Given the description of an element on the screen output the (x, y) to click on. 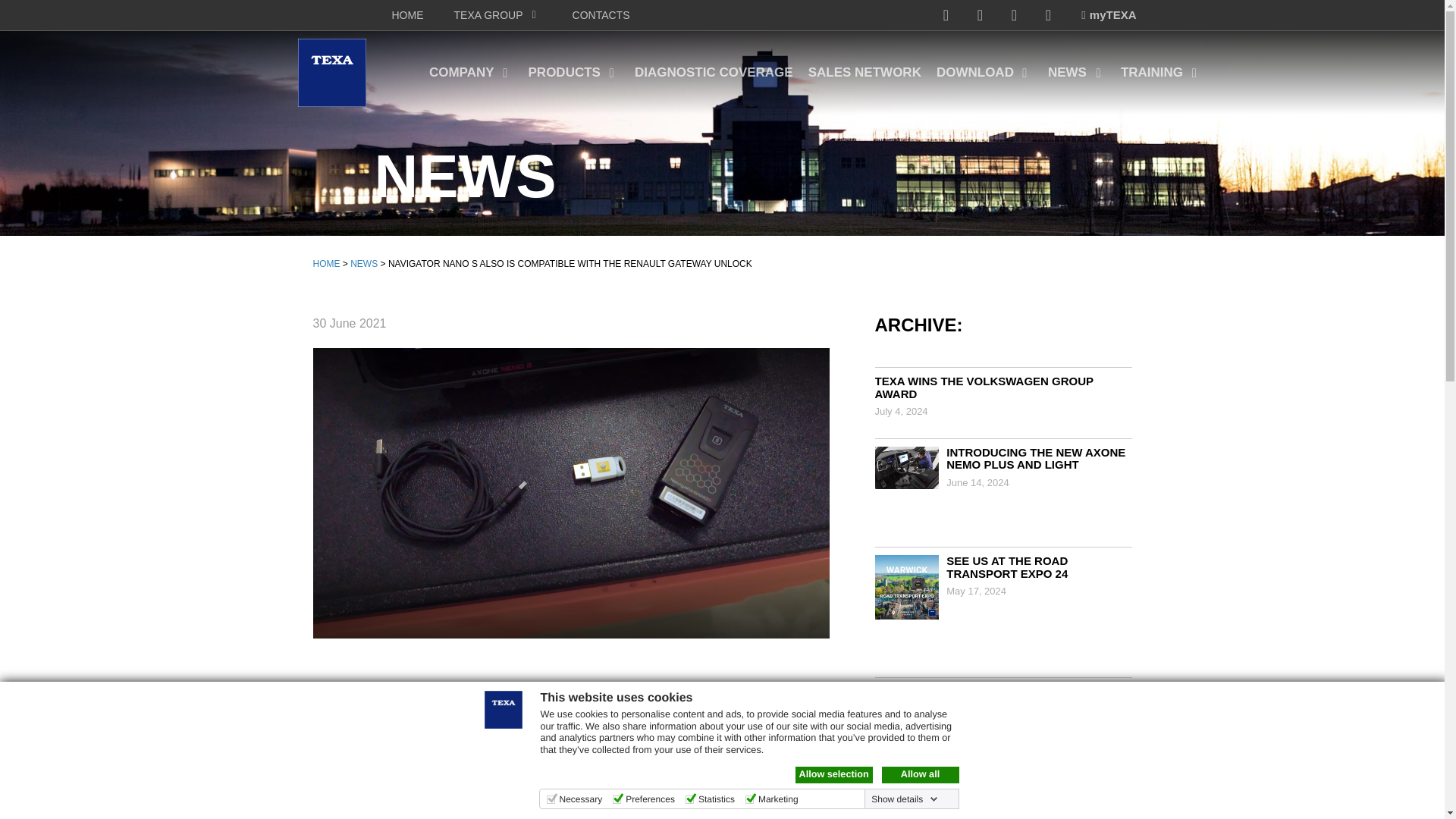
Allow all (919, 774)
Show details (903, 799)
Allow selection (833, 774)
